Given the description of an element on the screen output the (x, y) to click on. 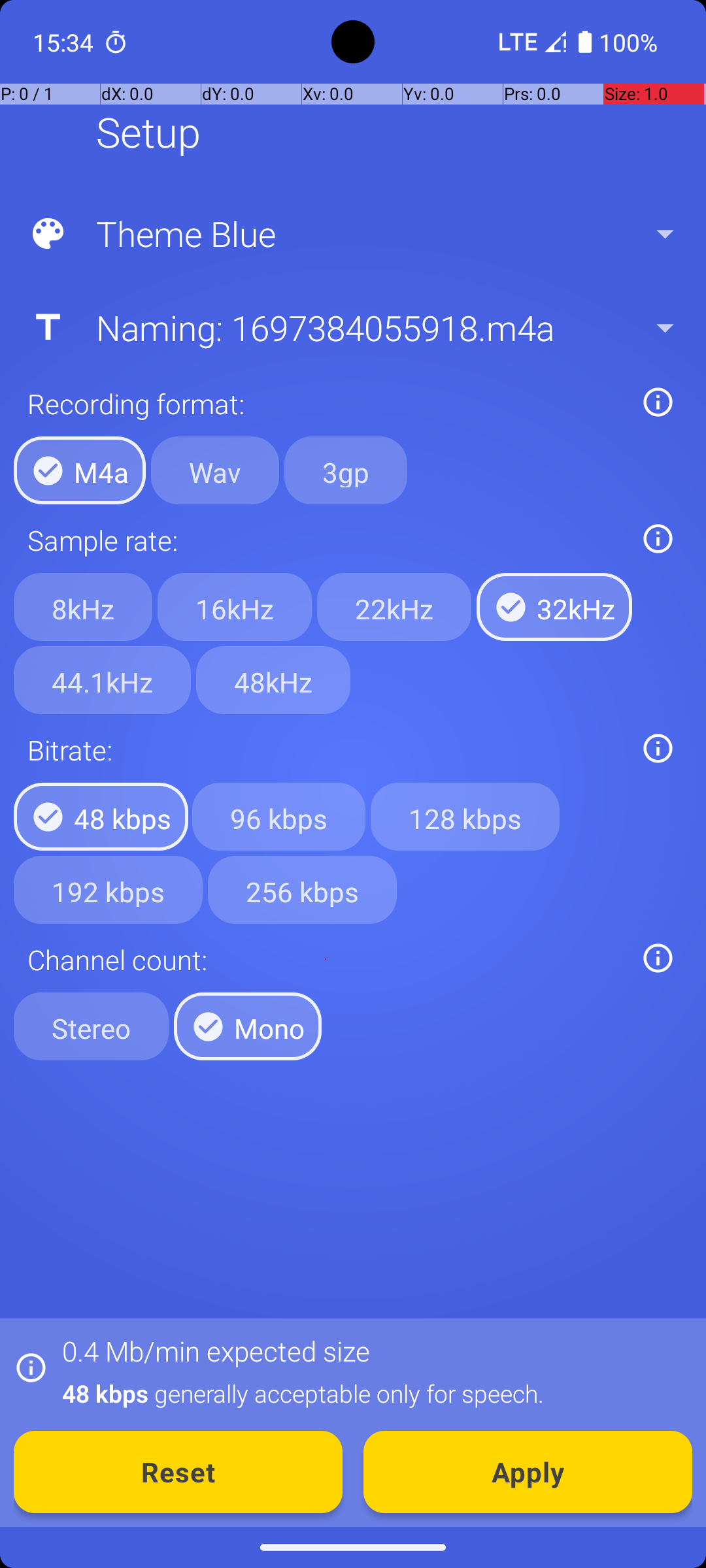
0.4 Mb/min expected size Element type: android.widget.TextView (215, 1350)
48 kbps generally acceptable only for speech. Element type: android.widget.TextView (370, 1392)
Theme Blue Element type: android.widget.TextView (352, 233)
Naming: 1697384055918.m4a Element type: android.widget.TextView (352, 327)
